Given the description of an element on the screen output the (x, y) to click on. 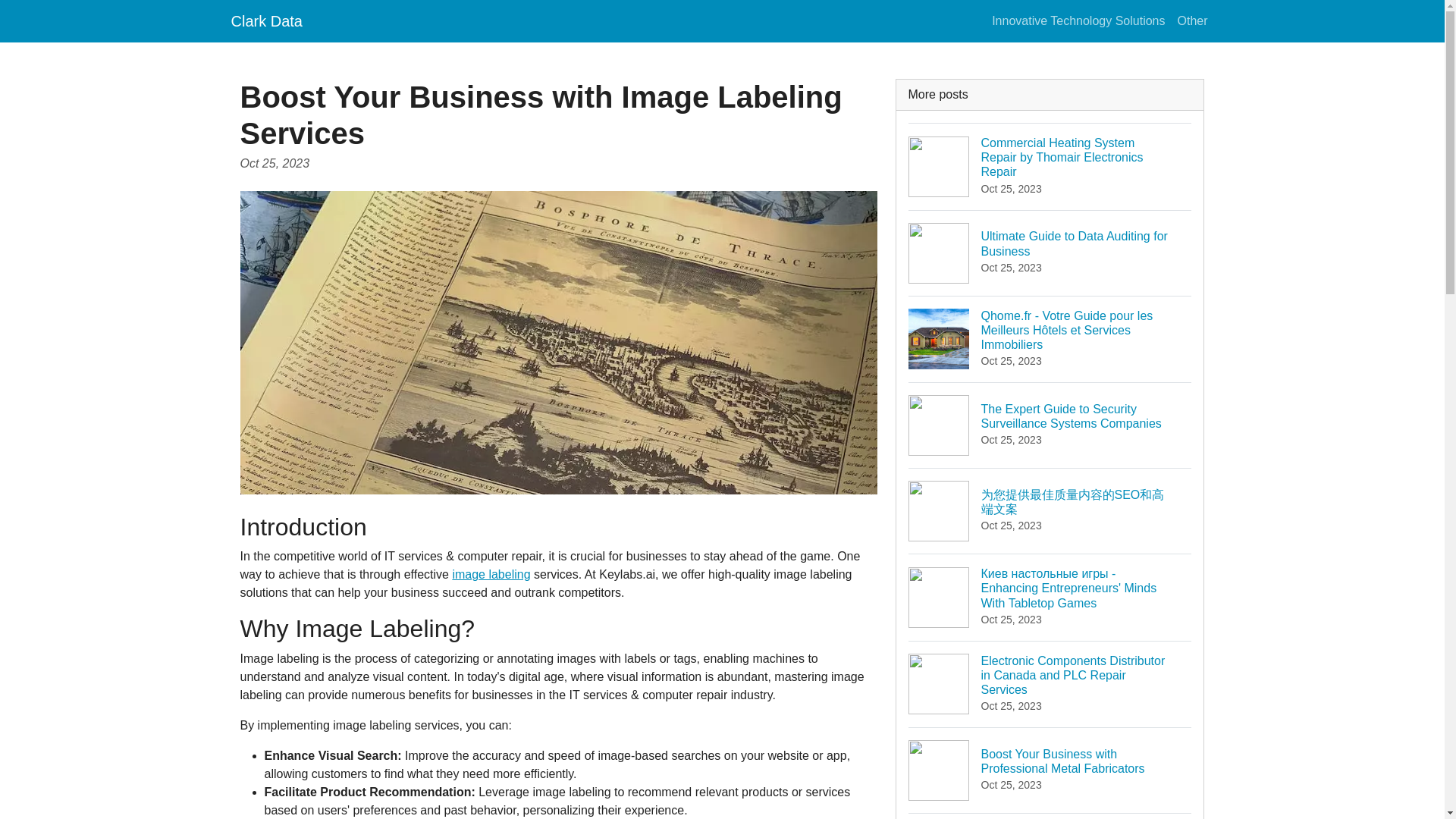
Innovative Technology Solutions (1050, 816)
Other (1077, 20)
image labeling (1191, 20)
Clark Data (490, 574)
